Given the description of an element on the screen output the (x, y) to click on. 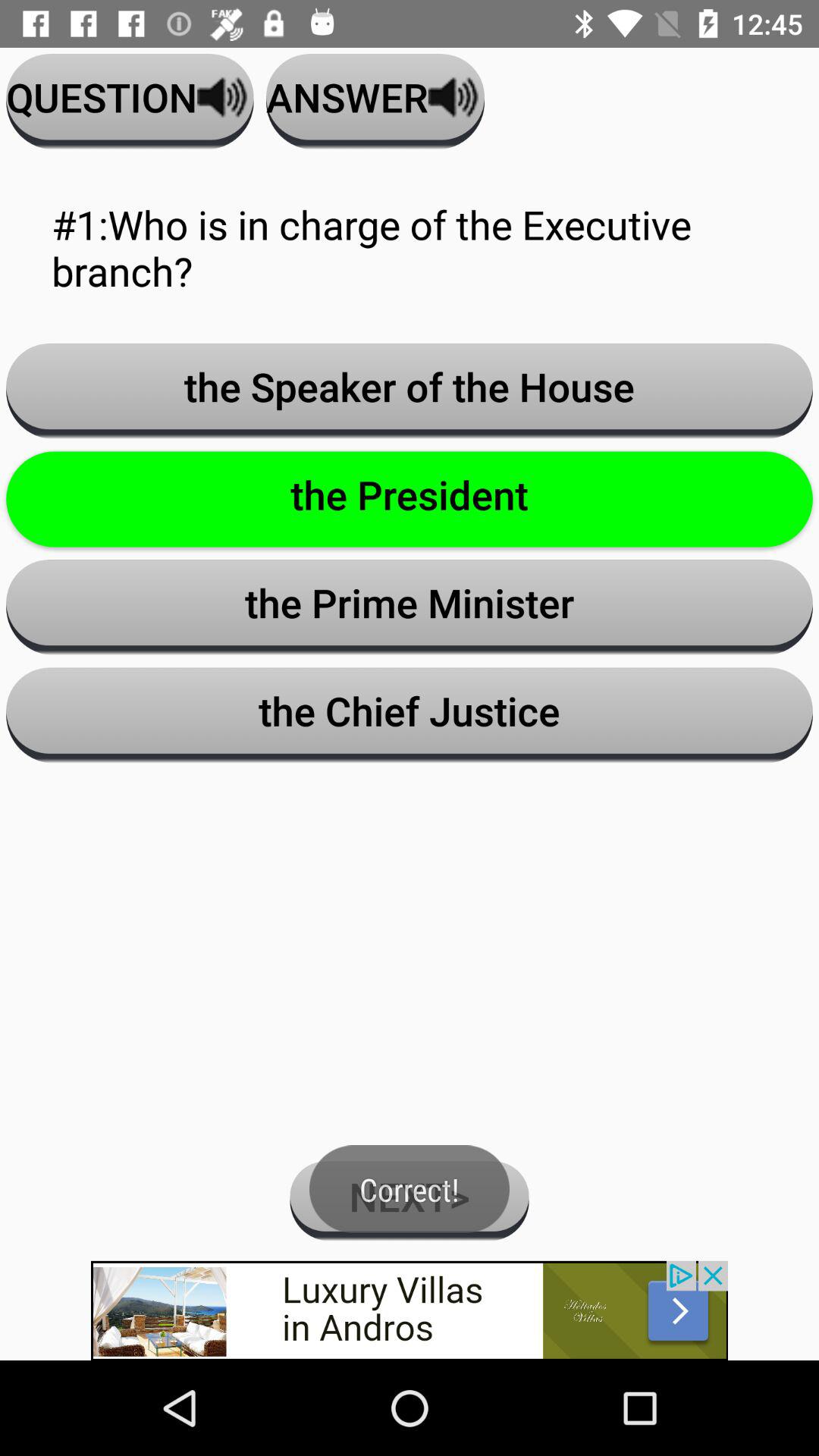
advertising (409, 1310)
